Given the description of an element on the screen output the (x, y) to click on. 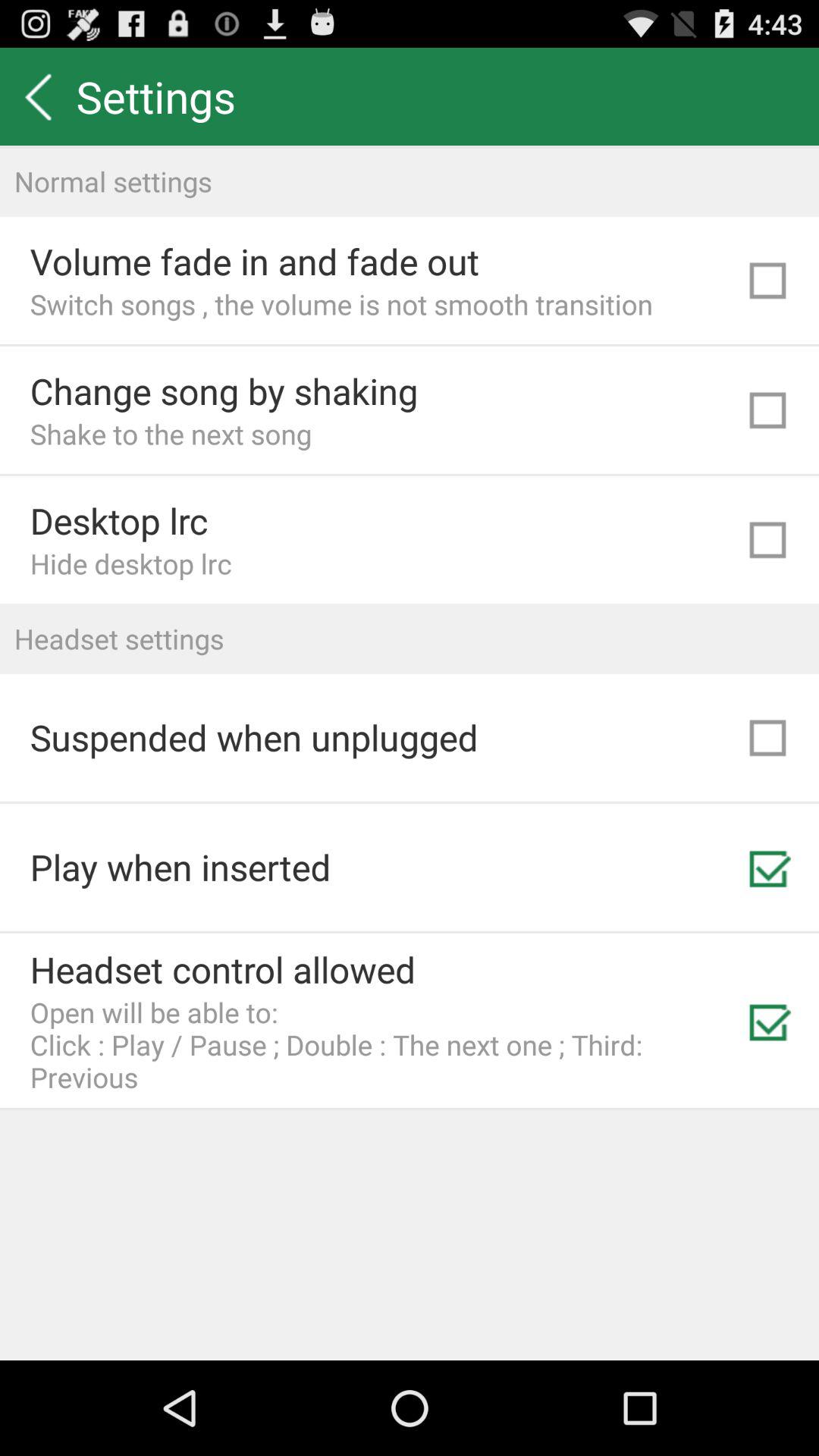
swipe to the switch songs the icon (341, 304)
